Given the description of an element on the screen output the (x, y) to click on. 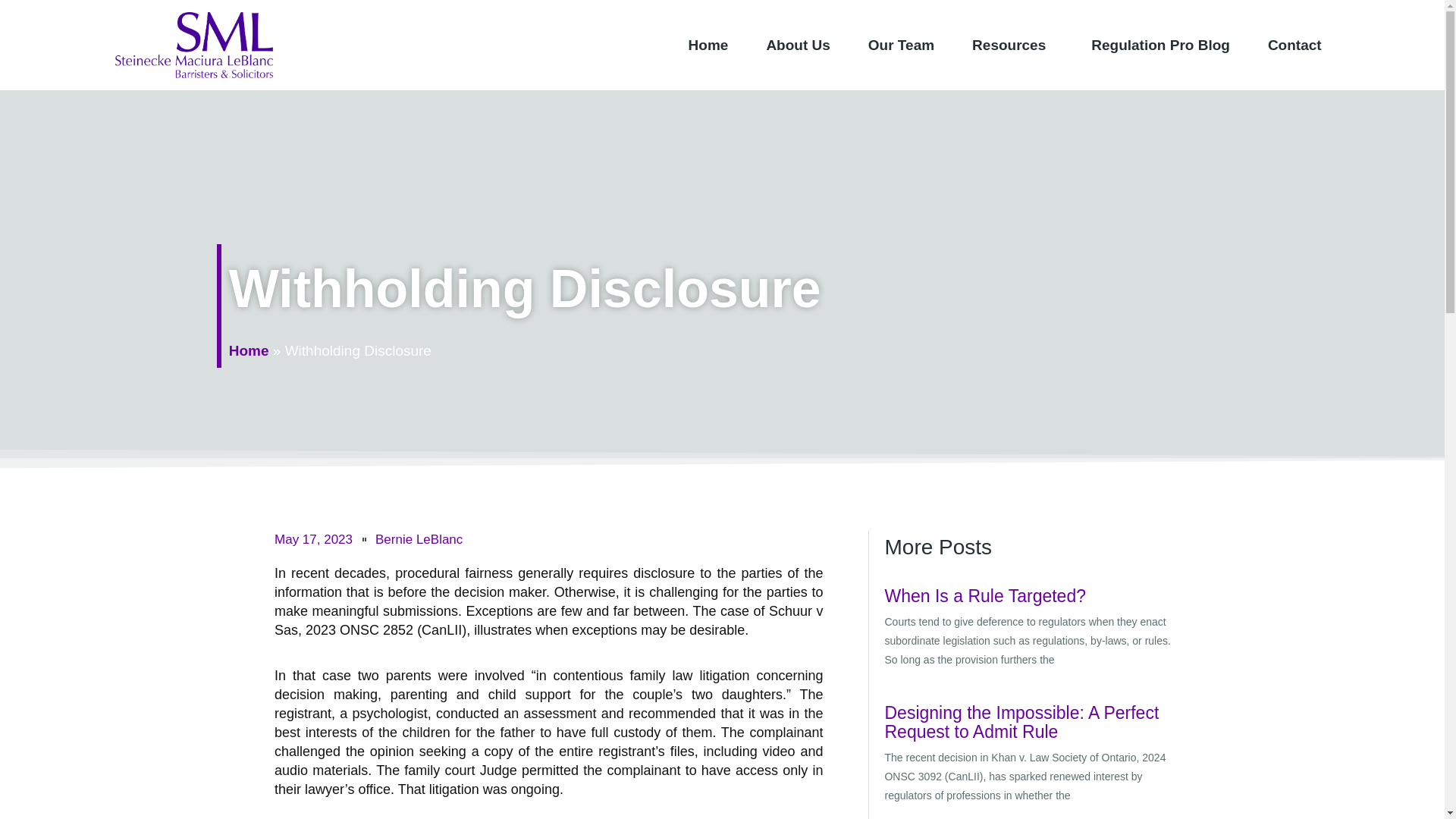
About Us (797, 44)
Contact (1294, 44)
Home (248, 350)
Regulation Pro Blog (1160, 44)
When Is a Rule Targeted? (984, 596)
May 17, 2023 (313, 538)
Our Team (901, 44)
Bernie LeBlanc (419, 538)
Resources (1012, 44)
Designing the Impossible: A Perfect Request to Admit Rule (1020, 722)
Home (708, 44)
